Given the description of an element on the screen output the (x, y) to click on. 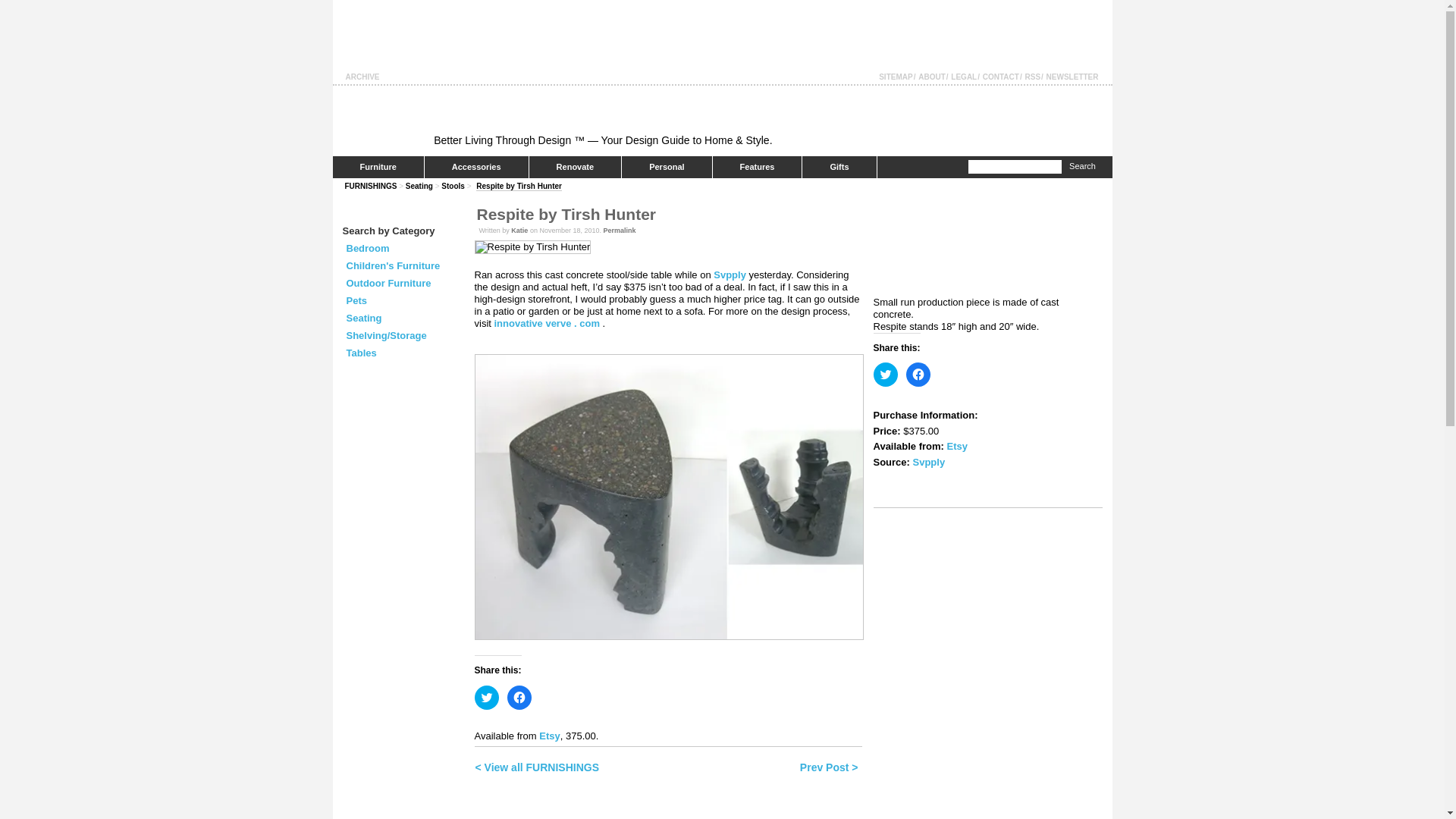
bltd (381, 122)
Stools (452, 185)
Personal (666, 167)
SITEMAP (895, 76)
Features (757, 167)
Click to share on Twitter (885, 374)
Posts by Katie (519, 230)
Search (1082, 166)
Renovate (575, 167)
RSS (1033, 76)
Gifts (839, 167)
Pets (356, 300)
Click to share on Facebook (917, 374)
CONTACT (1000, 76)
Seating (363, 317)
